Given the description of an element on the screen output the (x, y) to click on. 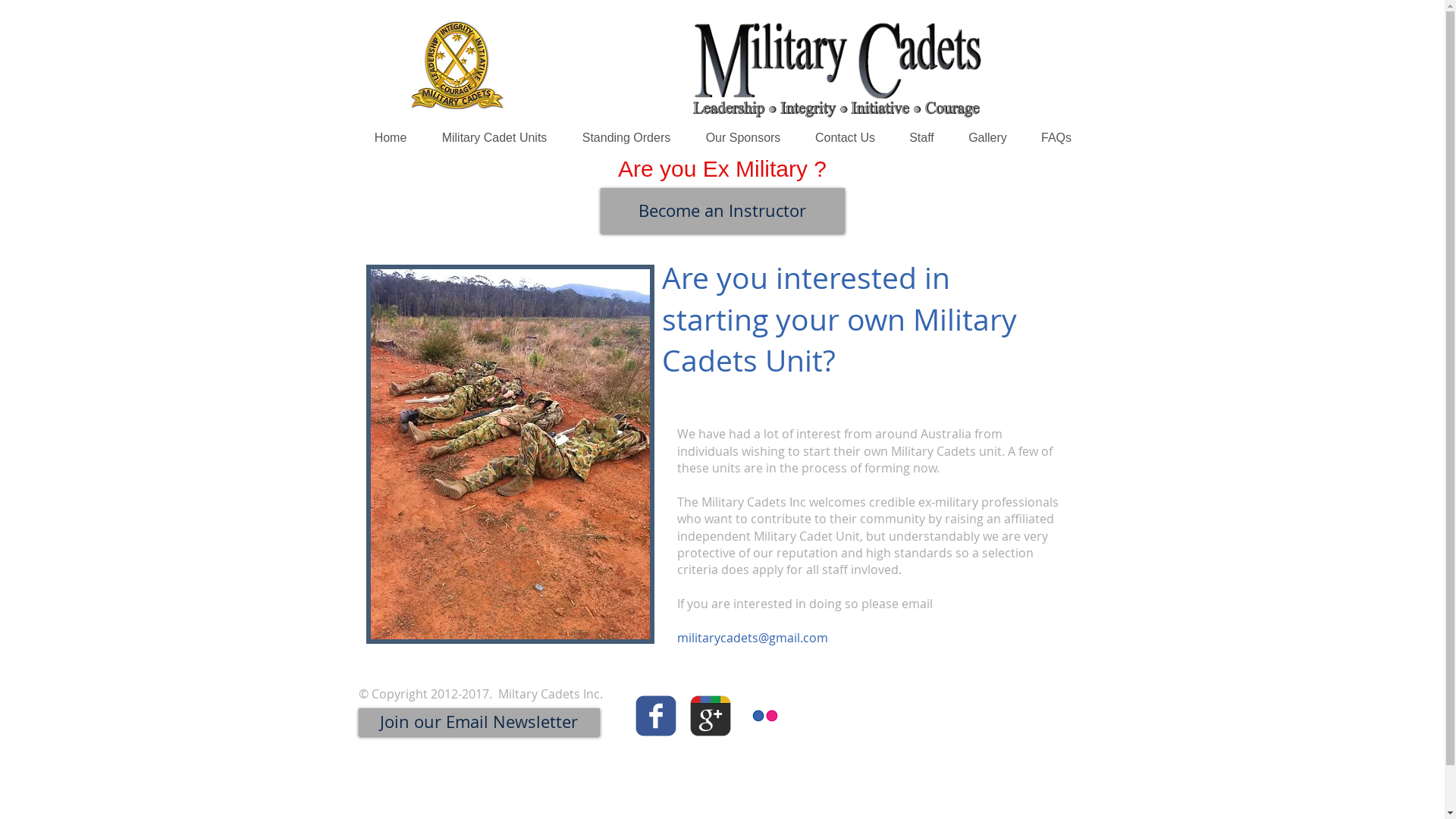
Contact Us Element type: text (844, 137)
Home Element type: text (389, 137)
FAQs Element type: text (1055, 137)
Our Sponsors Element type: text (743, 137)
Facebook Like Element type: hover (968, 708)
Military Cadet Units Element type: text (494, 137)
militarycadets@gmail.com Element type: text (751, 639)
Join our Email Newsletter Element type: text (478, 722)
Gallery Element type: text (986, 137)
Become an Instructor Element type: text (722, 210)
Military+Cadets+Metal+Badge+(Shiny+Gold).png Element type: hover (456, 65)
Staff Element type: text (920, 137)
Standing Orders Element type: text (625, 137)
Twitter Follow Element type: hover (965, 732)
